Given the description of an element on the screen output the (x, y) to click on. 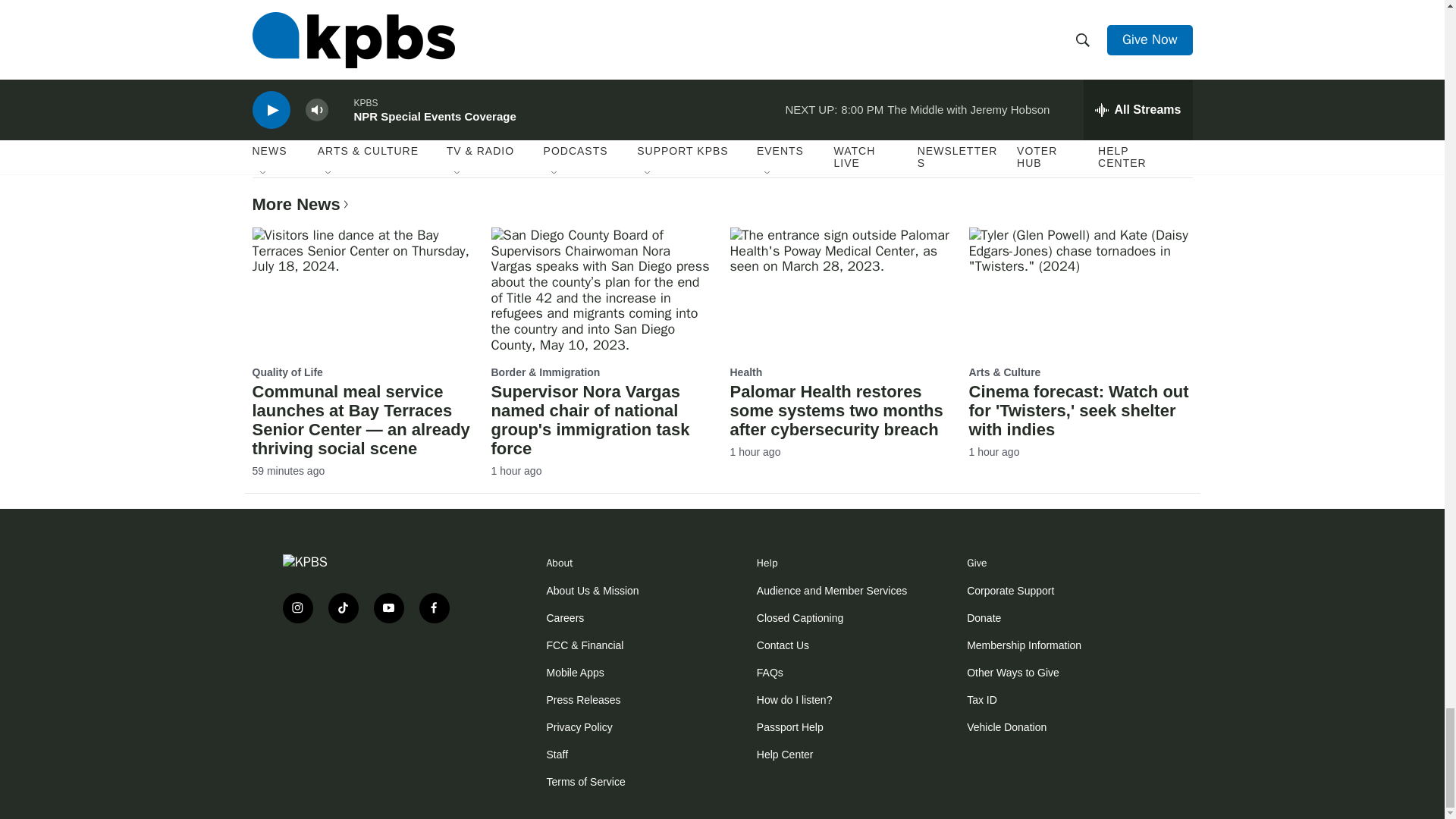
3rd party ad content (373, 683)
